Given the description of an element on the screen output the (x, y) to click on. 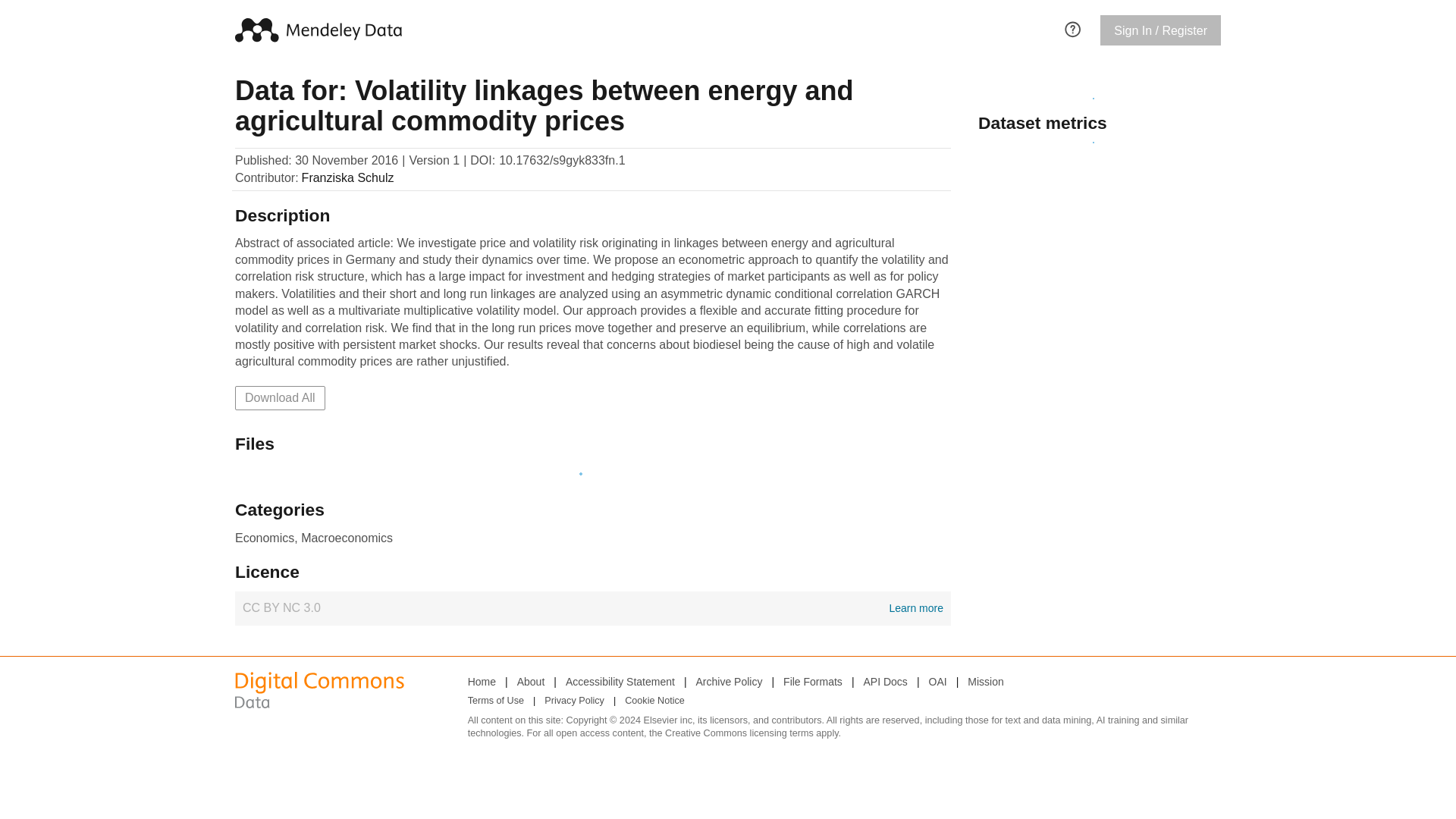
OAI (592, 607)
Archive Policy (937, 681)
File Formats (728, 681)
FAQ (813, 681)
Mission (1072, 27)
Accessibility Statement (985, 681)
Download All (620, 681)
About (279, 397)
Cookie Notice (530, 681)
Terms of Use (654, 701)
Home (495, 701)
Privacy Policy (481, 681)
API Docs (574, 701)
